Given the description of an element on the screen output the (x, y) to click on. 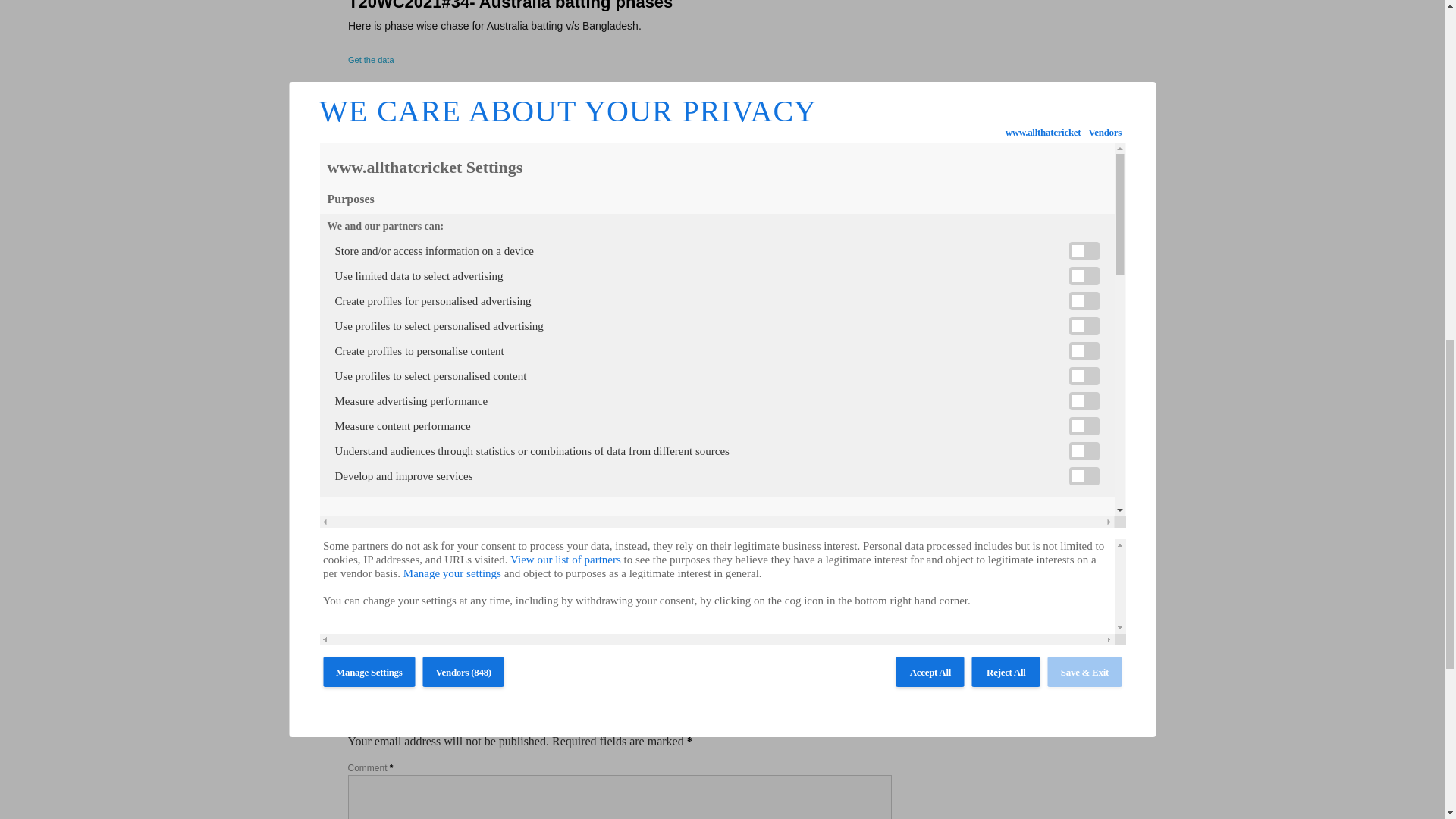
WhatsApp (410, 591)
LinkedIn (392, 591)
WhatsApp (410, 591)
Twitter (374, 591)
Facebook (356, 591)
Facebook (356, 591)
LinkedIn (392, 591)
Leave your comment (386, 638)
Twitter (374, 591)
